Given the description of an element on the screen output the (x, y) to click on. 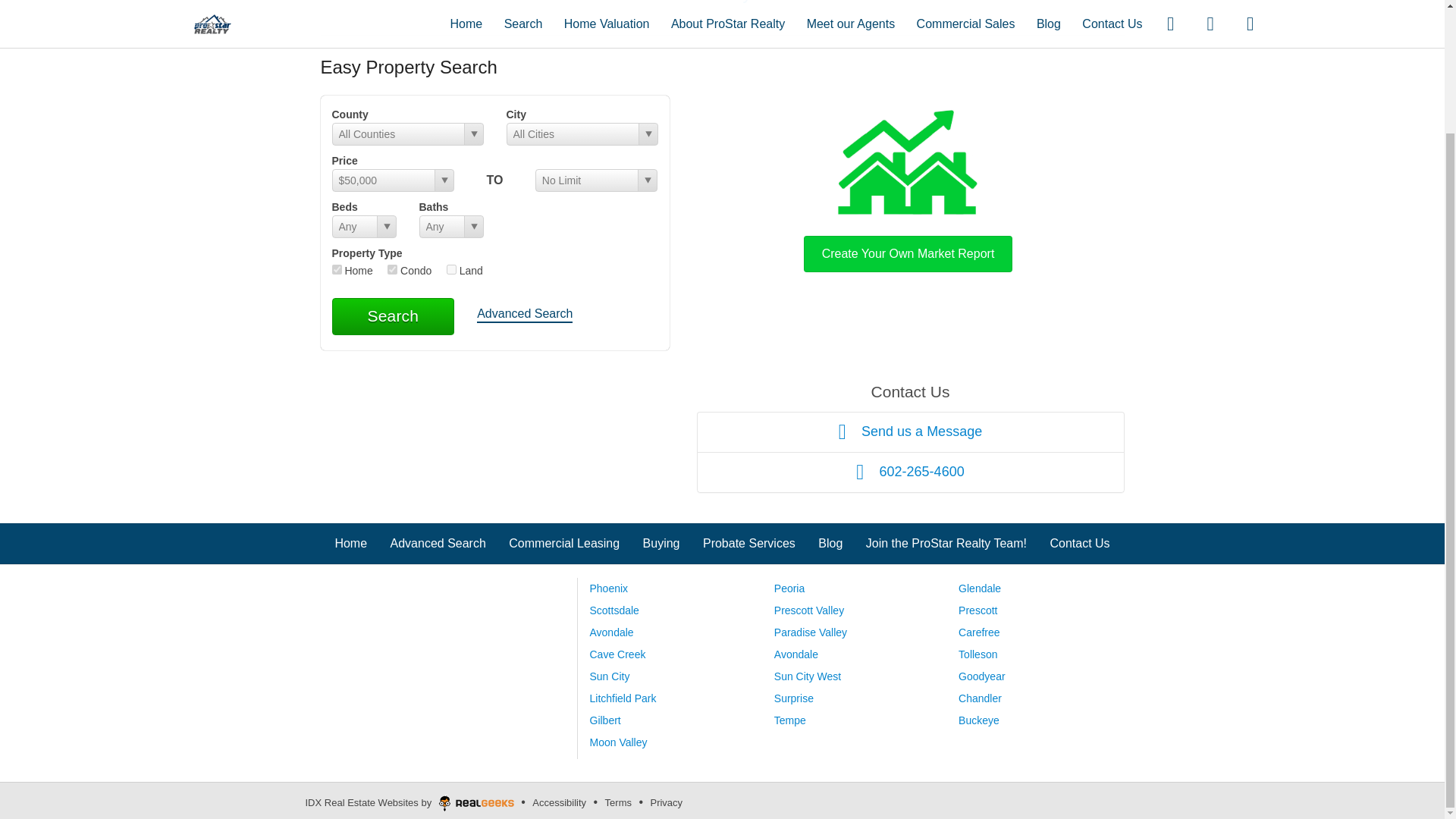
res (336, 269)
Peoria (789, 588)
Blog (830, 543)
Carefree (978, 632)
Avondale (611, 632)
Glendale (979, 588)
Commercial Leasing (564, 543)
Advanced Search (524, 314)
Scottsdale (614, 610)
Join the ProStar Realty Team! (946, 543)
